Given the description of an element on the screen output the (x, y) to click on. 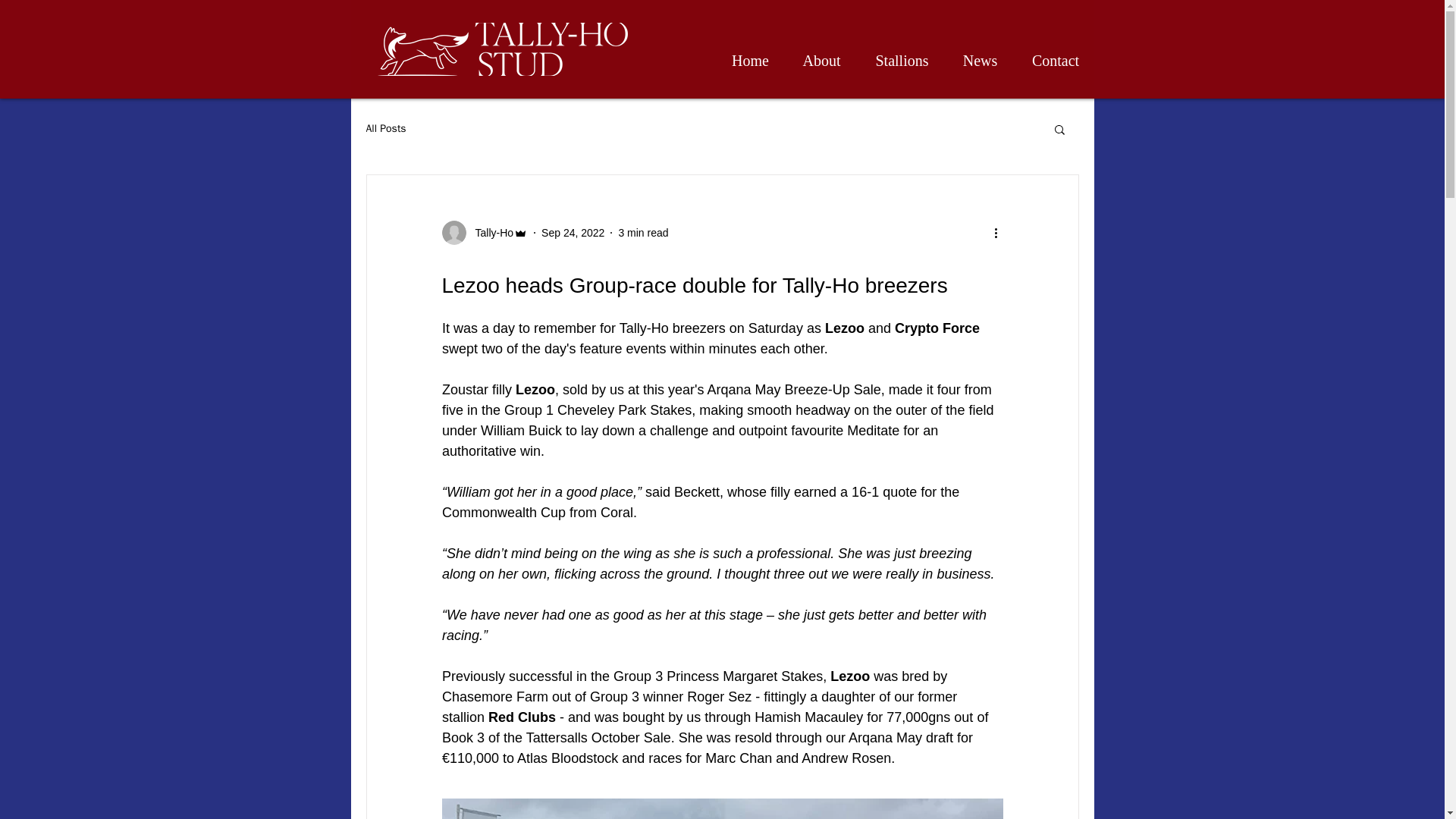
Tally-Ho (484, 232)
Contact (1055, 60)
News (979, 60)
3 min read (642, 232)
About (821, 60)
Home (750, 60)
All Posts (385, 128)
Sep 24, 2022 (572, 232)
Tally-Ho (489, 232)
Stallions (901, 60)
